Given the description of an element on the screen output the (x, y) to click on. 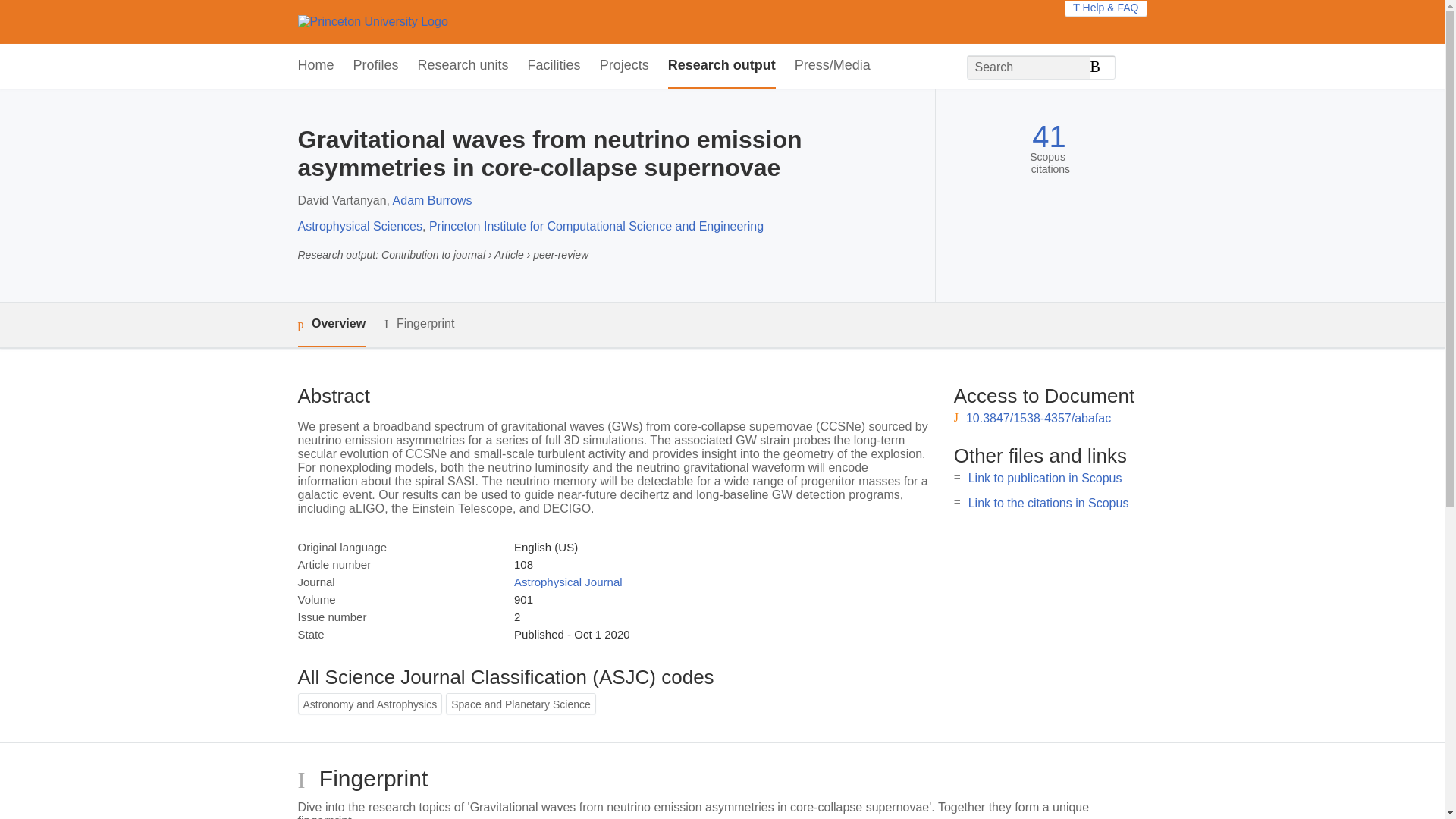
Link to the citations in Scopus (1048, 502)
Facilities (553, 66)
Link to publication in Scopus (1045, 477)
Profiles (375, 66)
Adam Burrows (432, 200)
Princeton University Home (371, 21)
Overview (331, 324)
41 (1048, 136)
Fingerprint (419, 323)
